Given the description of an element on the screen output the (x, y) to click on. 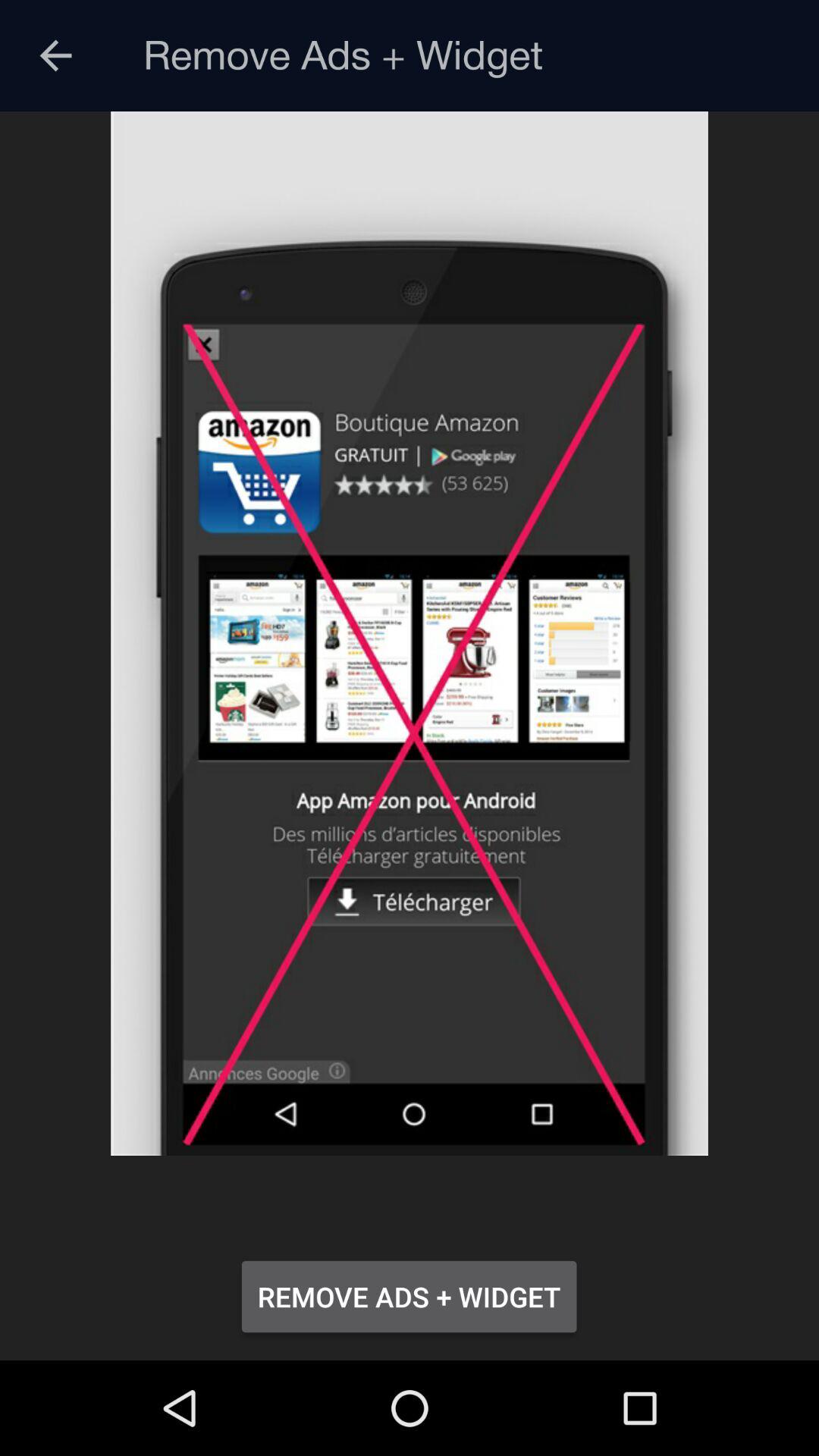
choose icon to the left of remove ads + widget (55, 55)
